Given the description of an element on the screen output the (x, y) to click on. 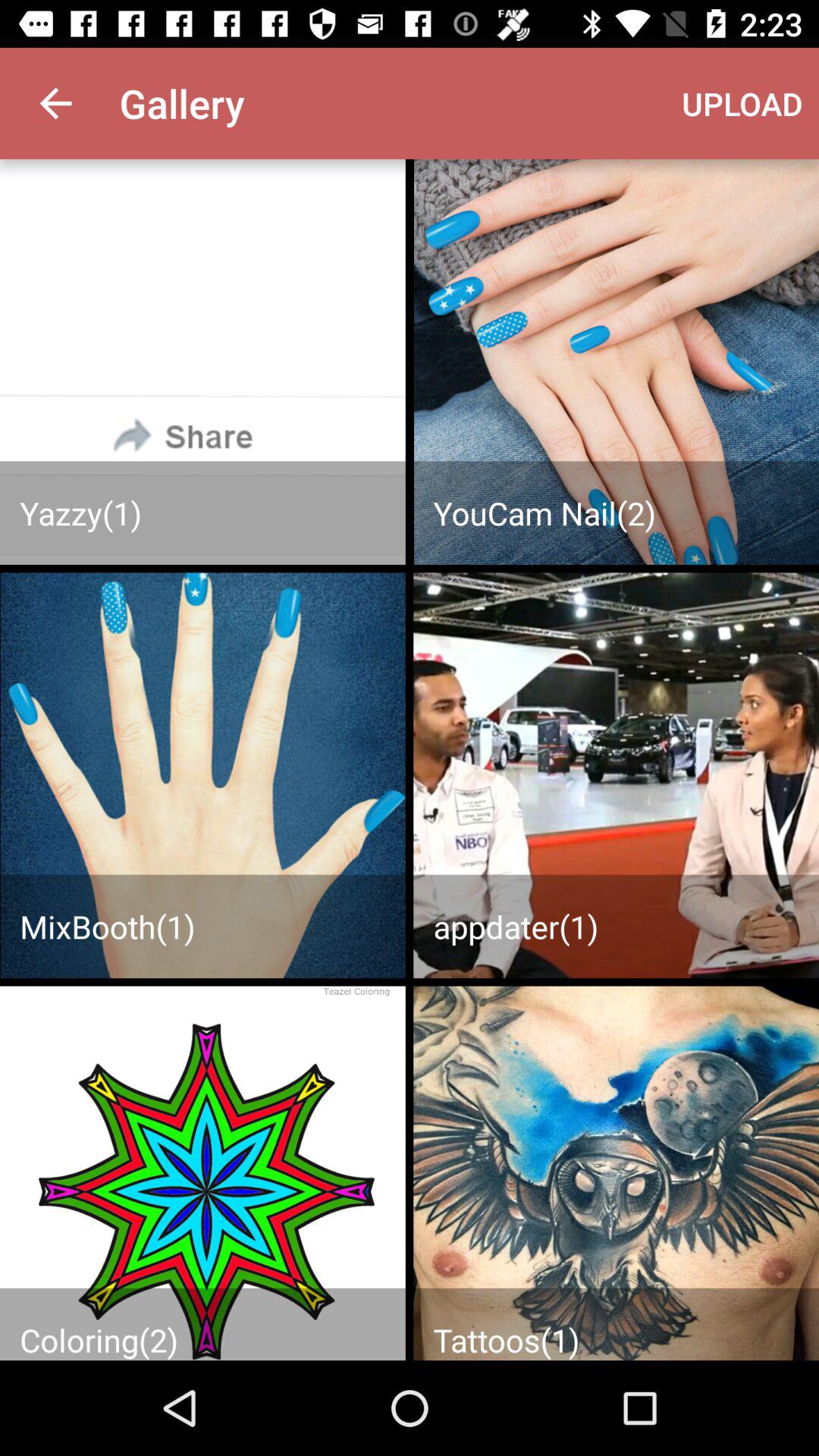
view tattoos (616, 1173)
